Given the description of an element on the screen output the (x, y) to click on. 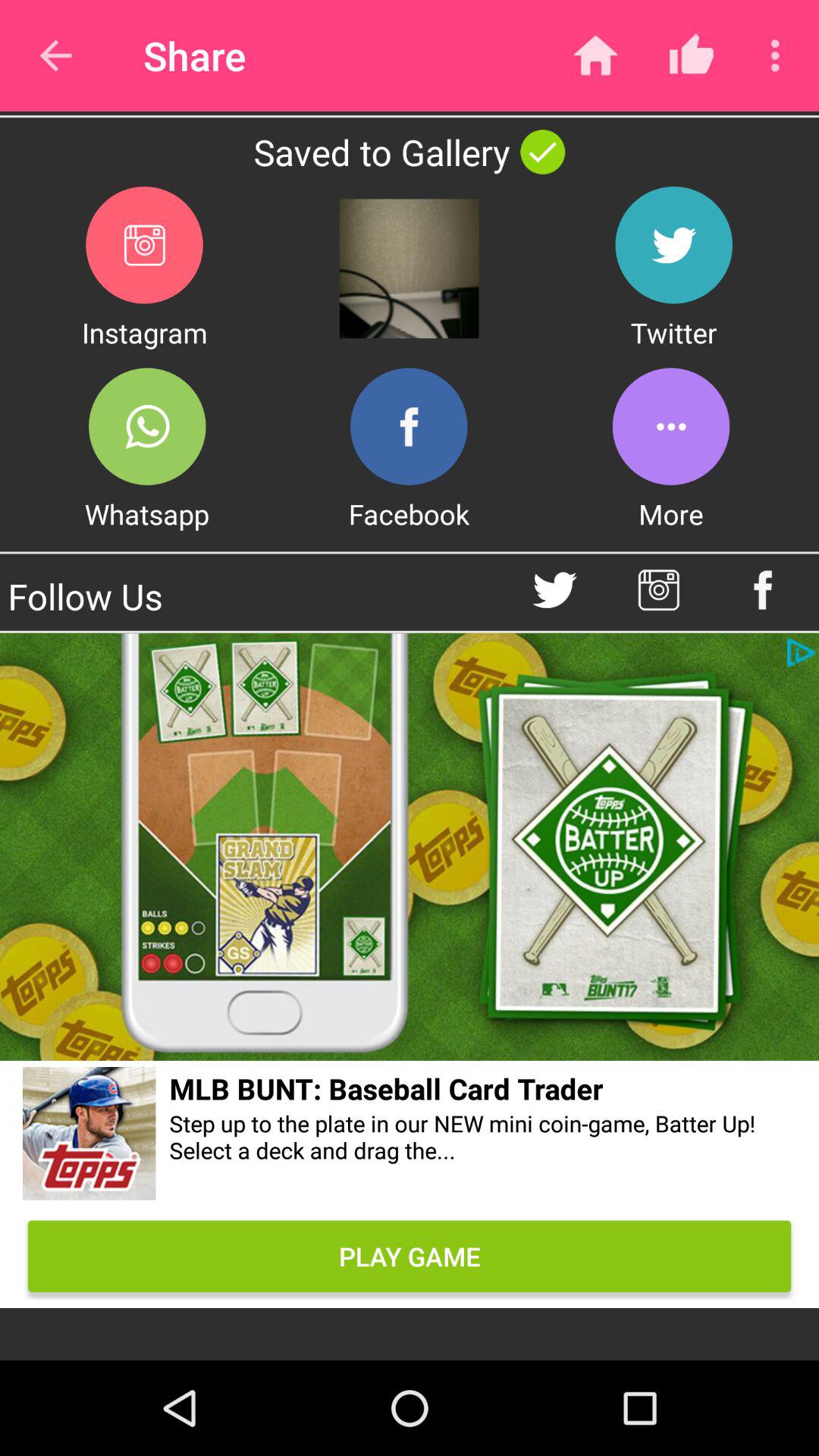
twitter (673, 244)
